Given the description of an element on the screen output the (x, y) to click on. 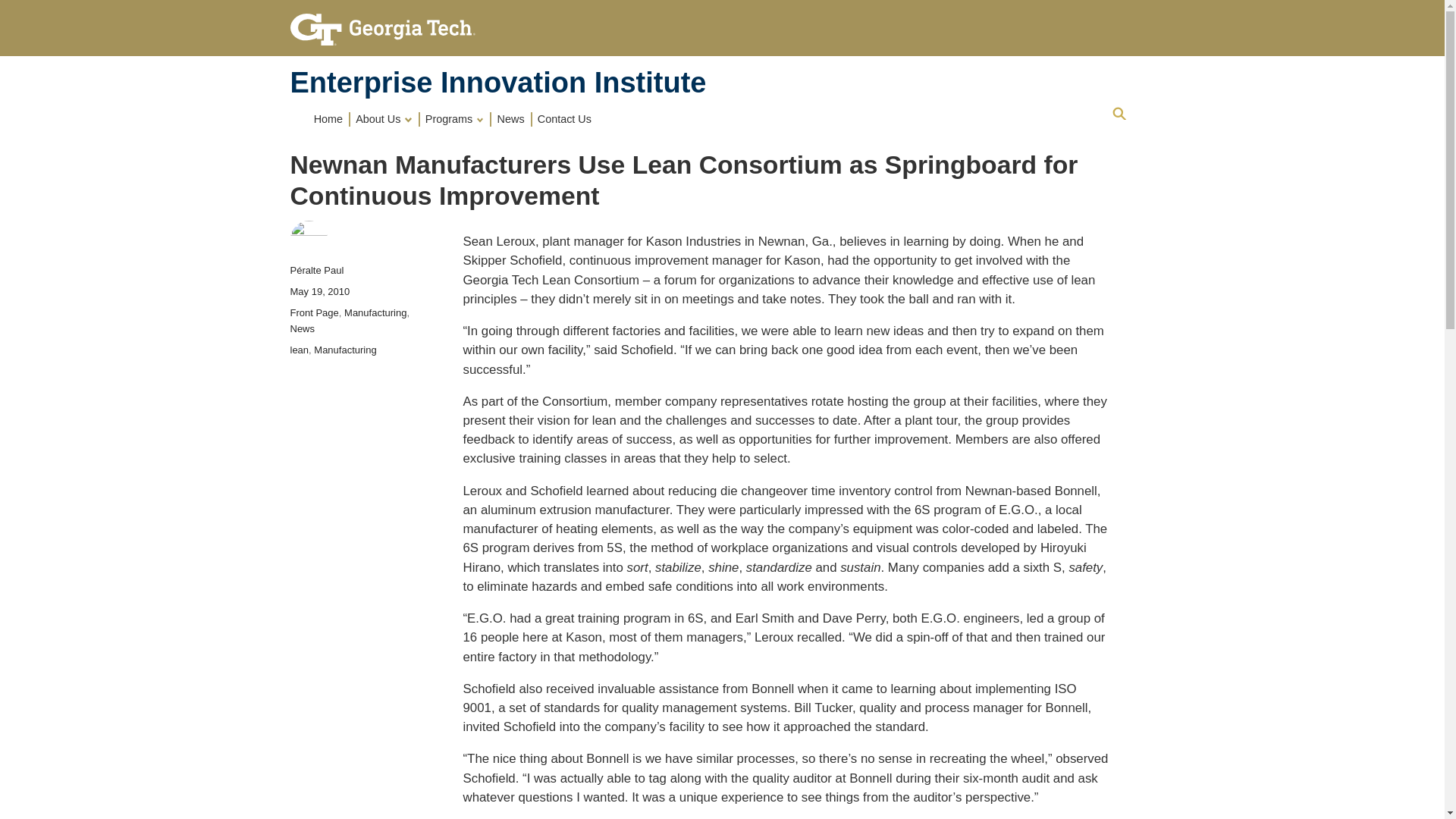
Contact Us (564, 119)
Enterprise Innovation Institute (497, 82)
News (511, 119)
About Us (385, 119)
Home (328, 119)
Programs (456, 119)
Home (497, 82)
